Given the description of an element on the screen output the (x, y) to click on. 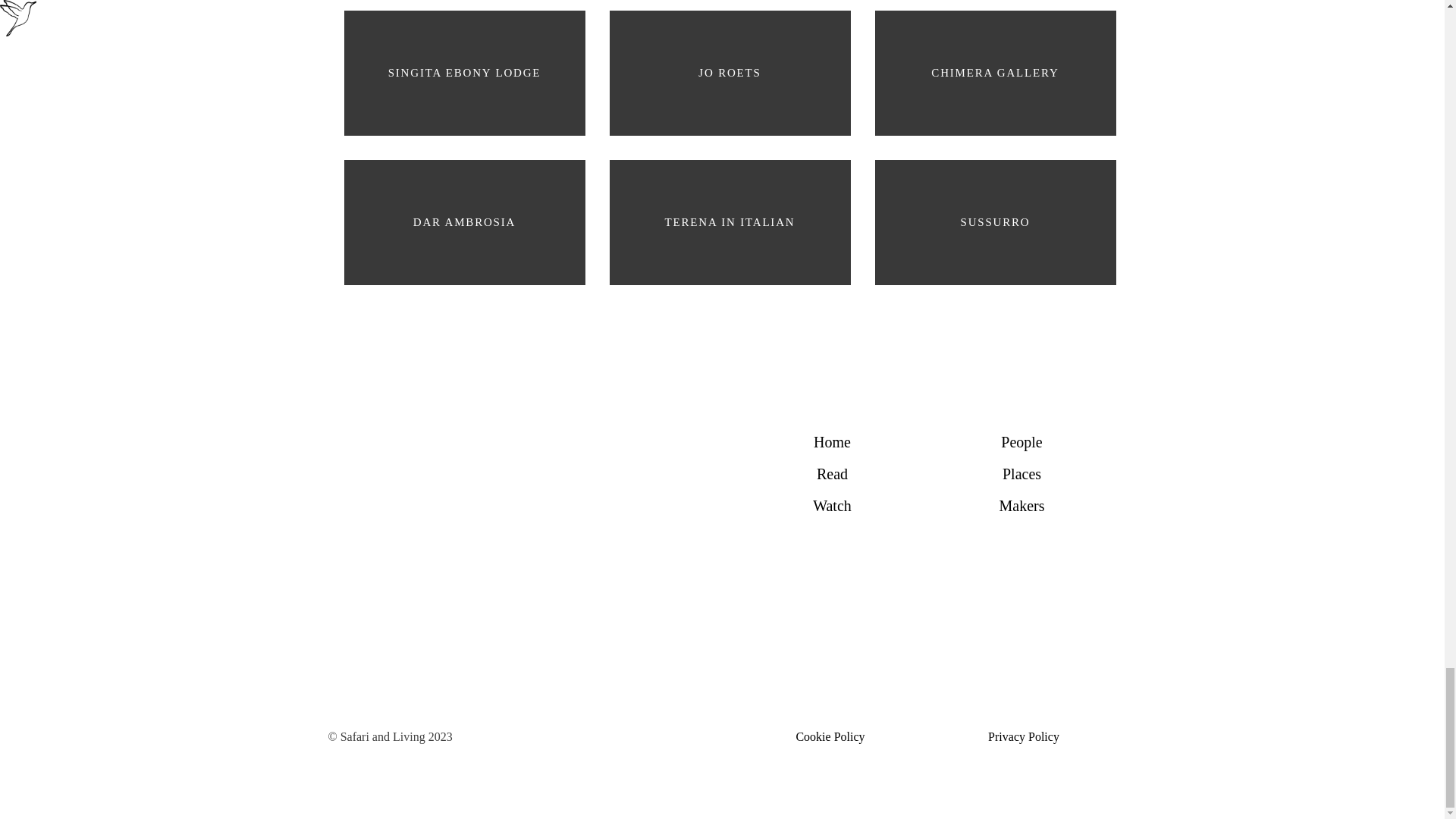
SINGITA EBONY LODGE (463, 74)
JO ROETS (729, 74)
CHIMERA GALLERY (995, 74)
DAR AMBROSIA (463, 222)
TERENA IN ITALIAN (729, 222)
